Given the description of an element on the screen output the (x, y) to click on. 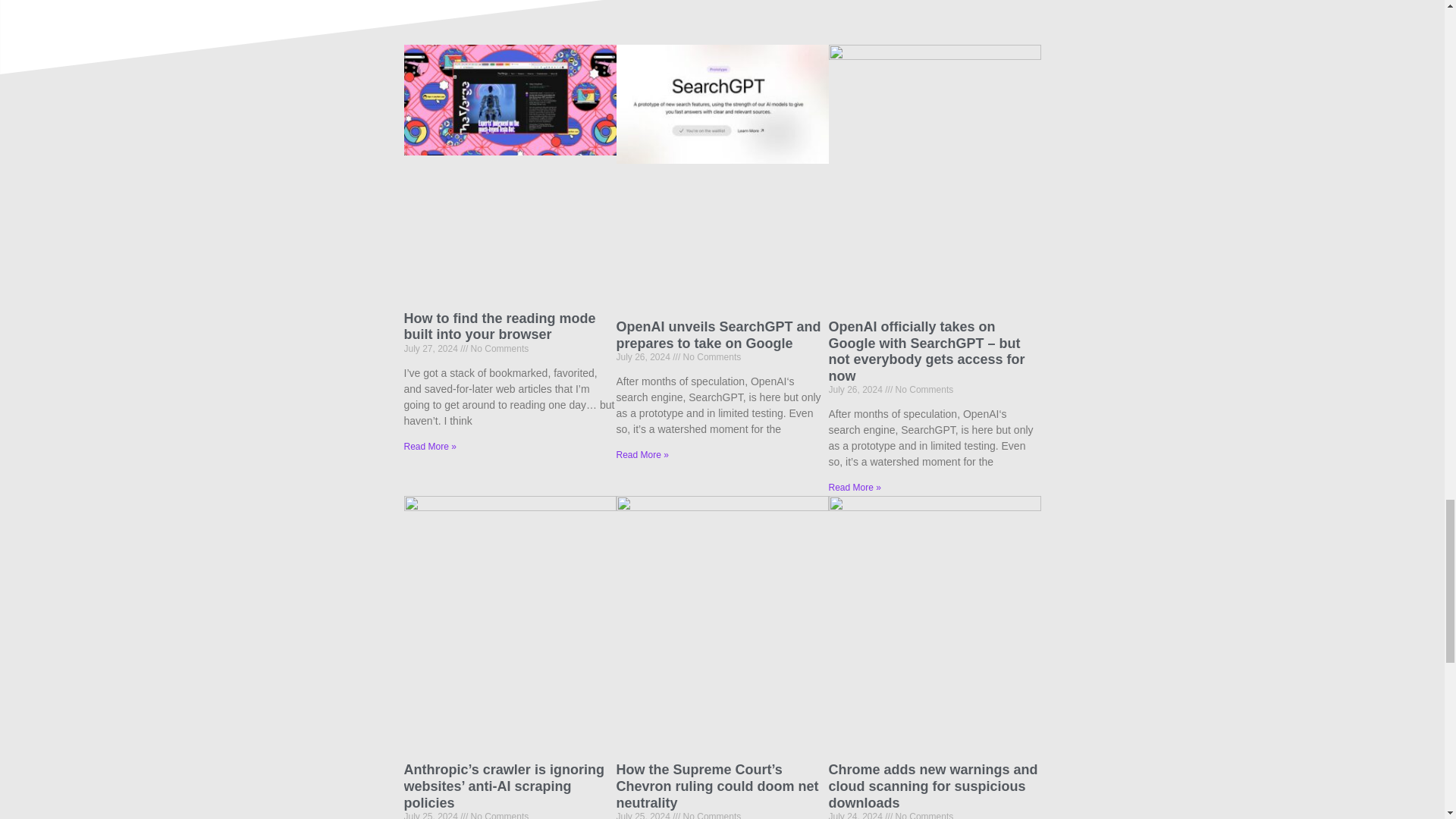
OpenAI unveils SearchGPT and prepares to take on Google (718, 335)
How to find the reading mode built into your browser (499, 327)
